Given the description of an element on the screen output the (x, y) to click on. 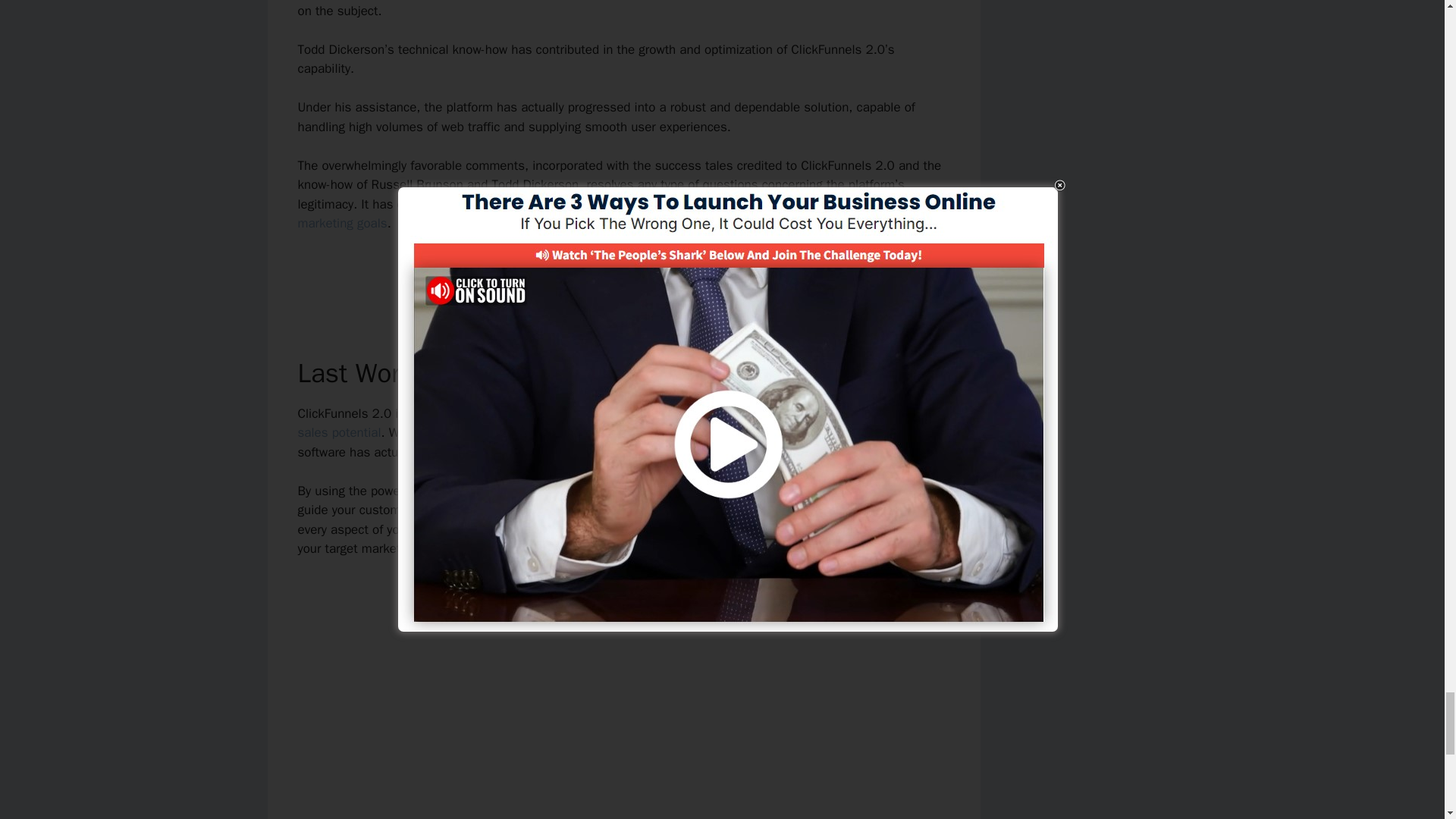
sales potential (338, 432)
Go Here To Try Out ClickFunnels 2.0 (623, 275)
marketing goals (342, 222)
